Given the description of an element on the screen output the (x, y) to click on. 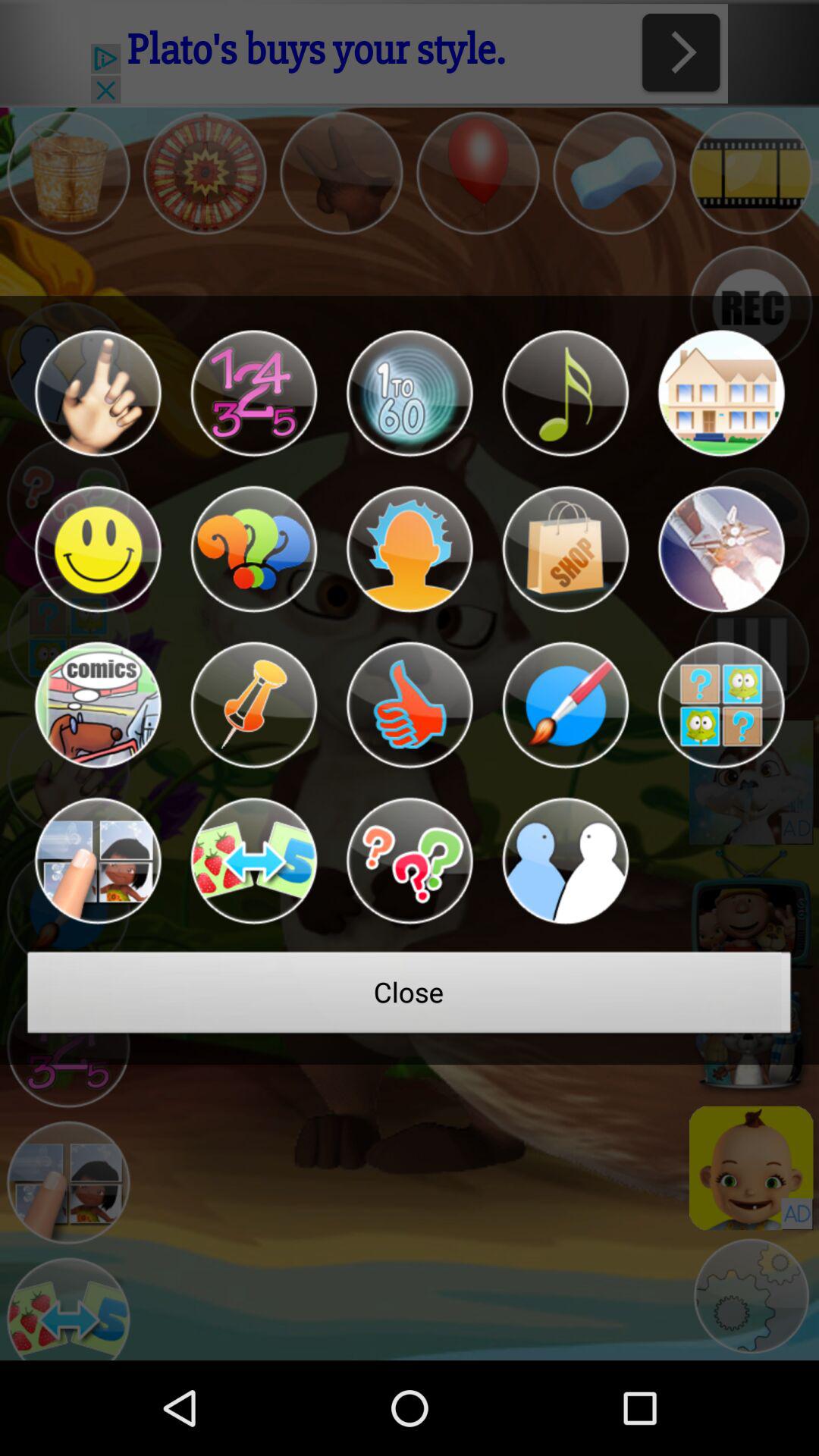
launch the icon at the top (409, 393)
